Given the description of an element on the screen output the (x, y) to click on. 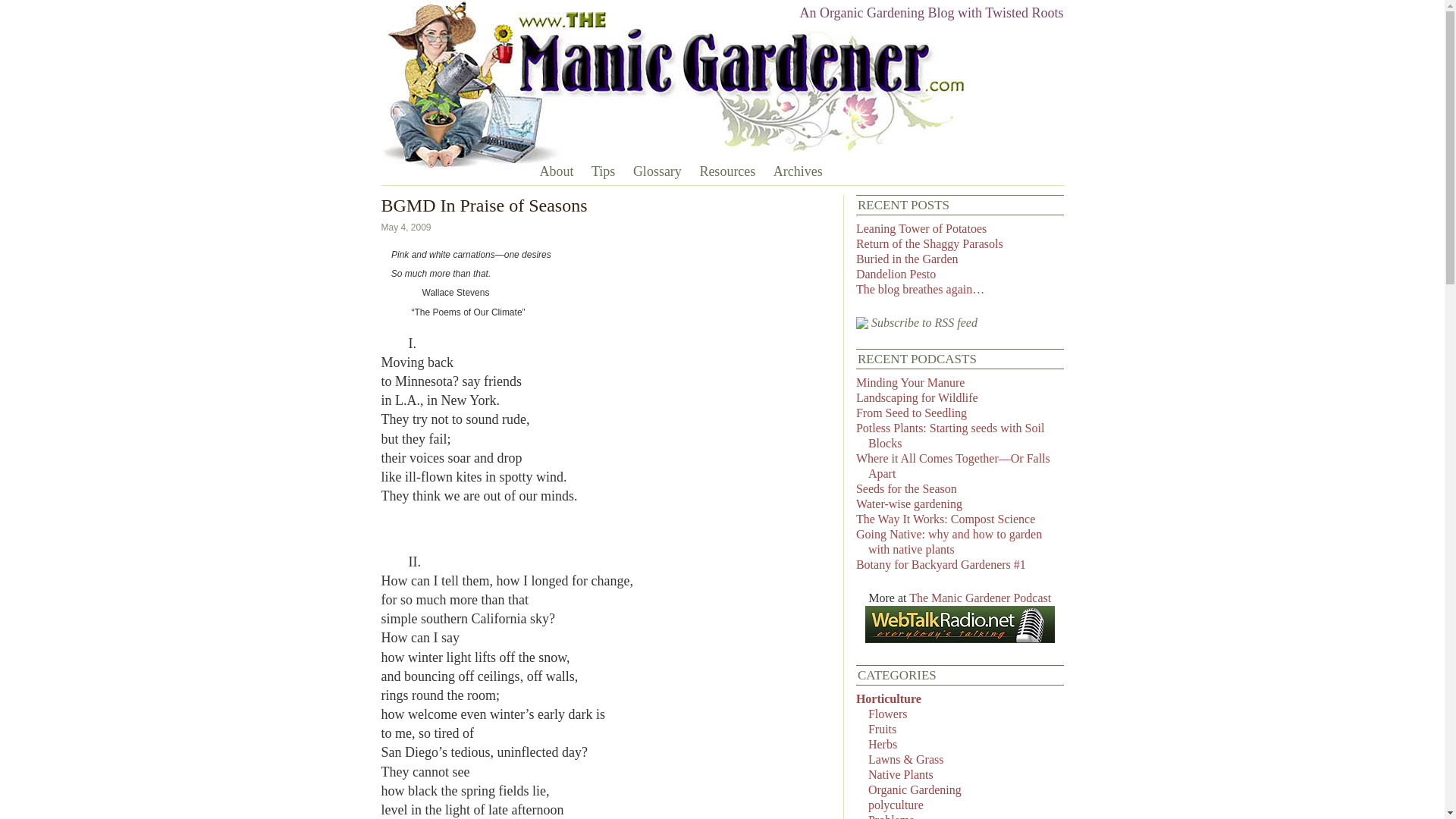
From Seed to Seedling (911, 412)
Dandelion Pesto (896, 273)
About (555, 169)
Potless Plants: Starting seeds with Soil Blocks (949, 435)
Return of the Shaggy Parasols (929, 243)
Fruits (881, 728)
Water-wise gardening (909, 503)
Seeds for the Season (906, 488)
Subscribe to RSS feed (916, 322)
Buried in the Garden (907, 258)
